Given the description of an element on the screen output the (x, y) to click on. 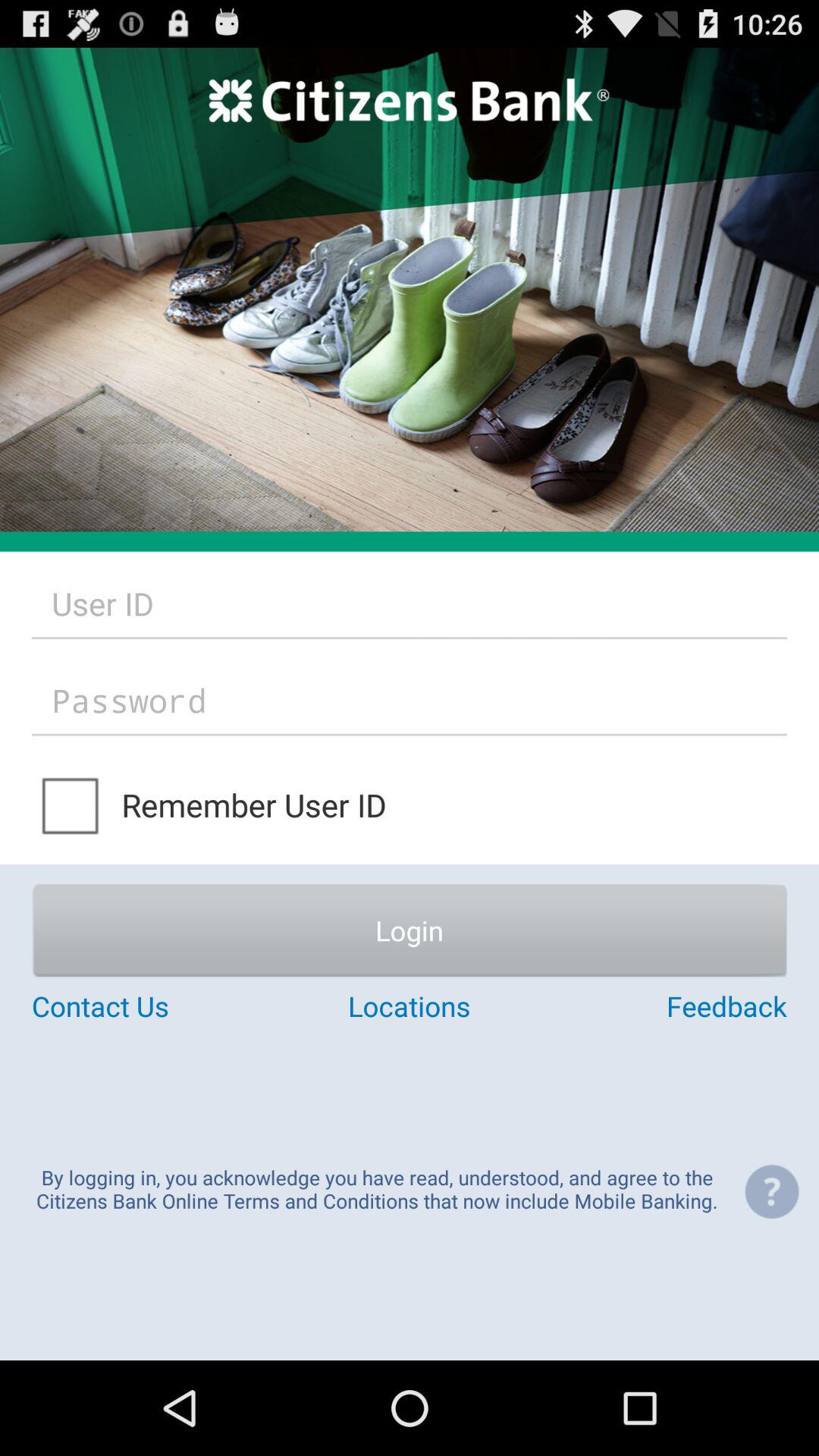
open item above the by logging in app (661, 1005)
